Given the description of an element on the screen output the (x, y) to click on. 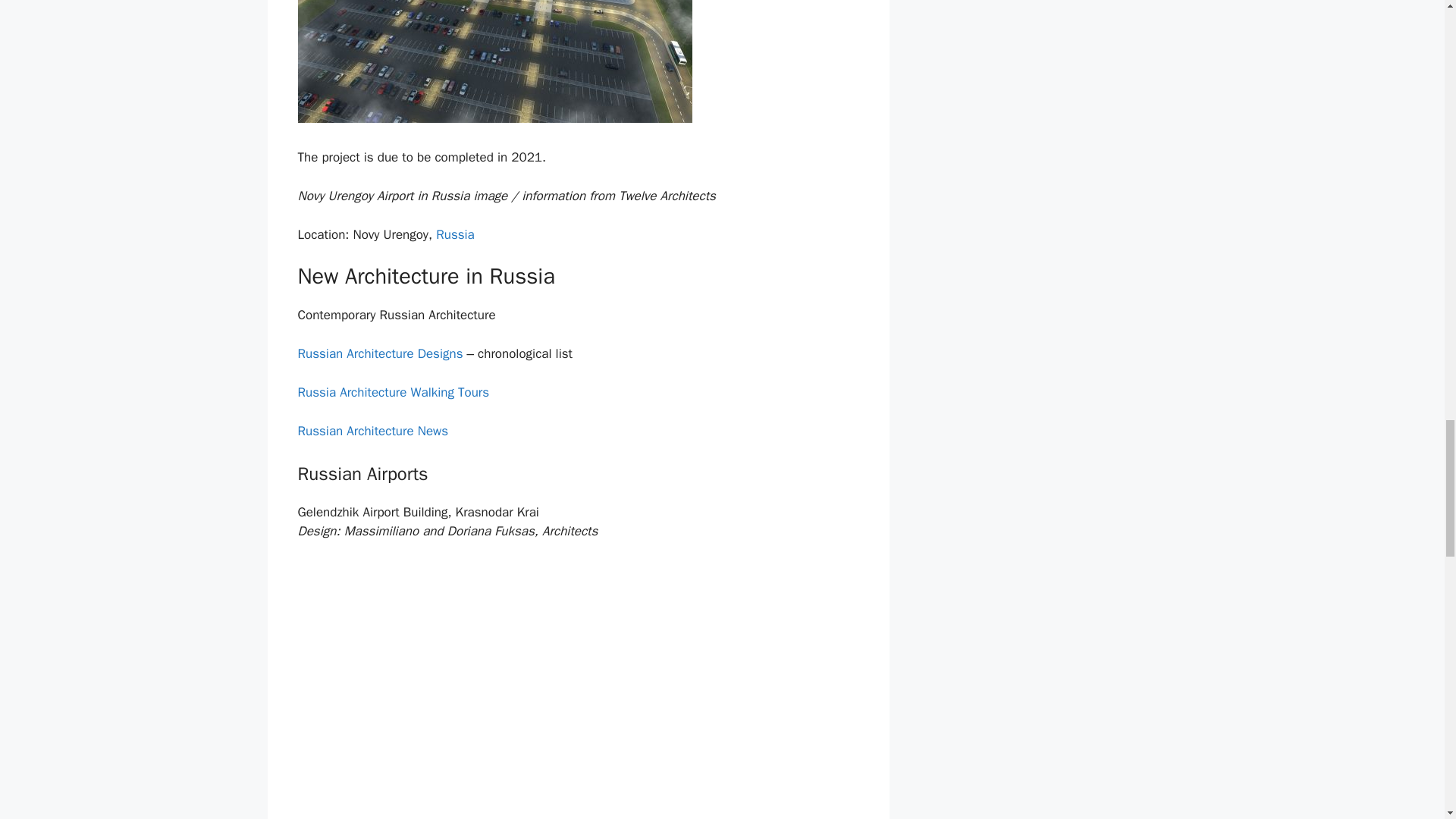
Russia (454, 234)
Russian Architecture News (372, 430)
Russia Architecture Walking Tours (393, 392)
Russian Architecture Designs (380, 353)
